Given the description of an element on the screen output the (x, y) to click on. 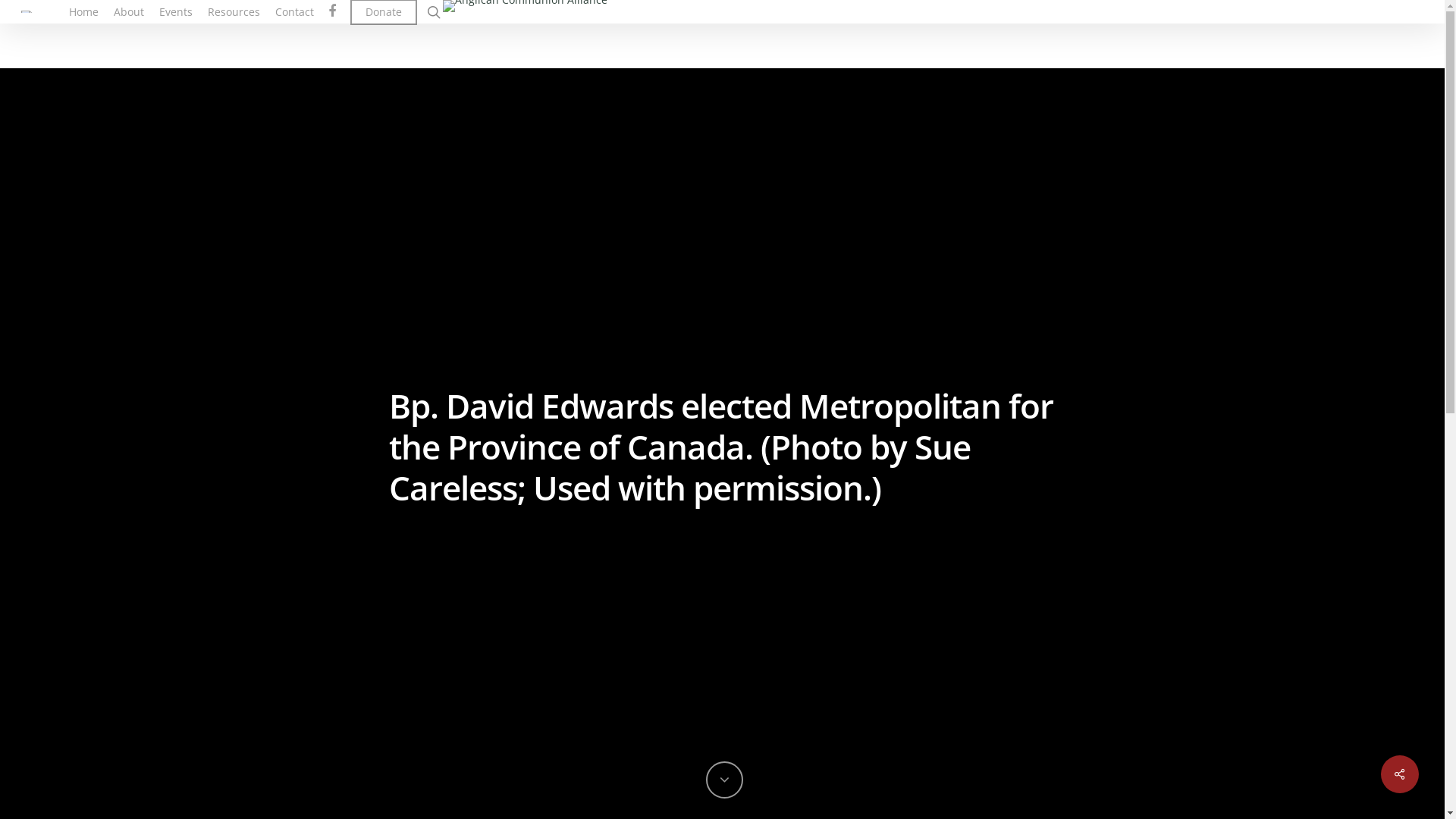
Contact Element type: text (294, 11)
About Element type: text (128, 11)
Home Element type: text (83, 11)
Events Element type: text (175, 11)
Donate Element type: text (383, 11)
facebook Element type: text (331, 11)
search Element type: text (433, 11)
Resources Element type: text (233, 11)
